Given the description of an element on the screen output the (x, y) to click on. 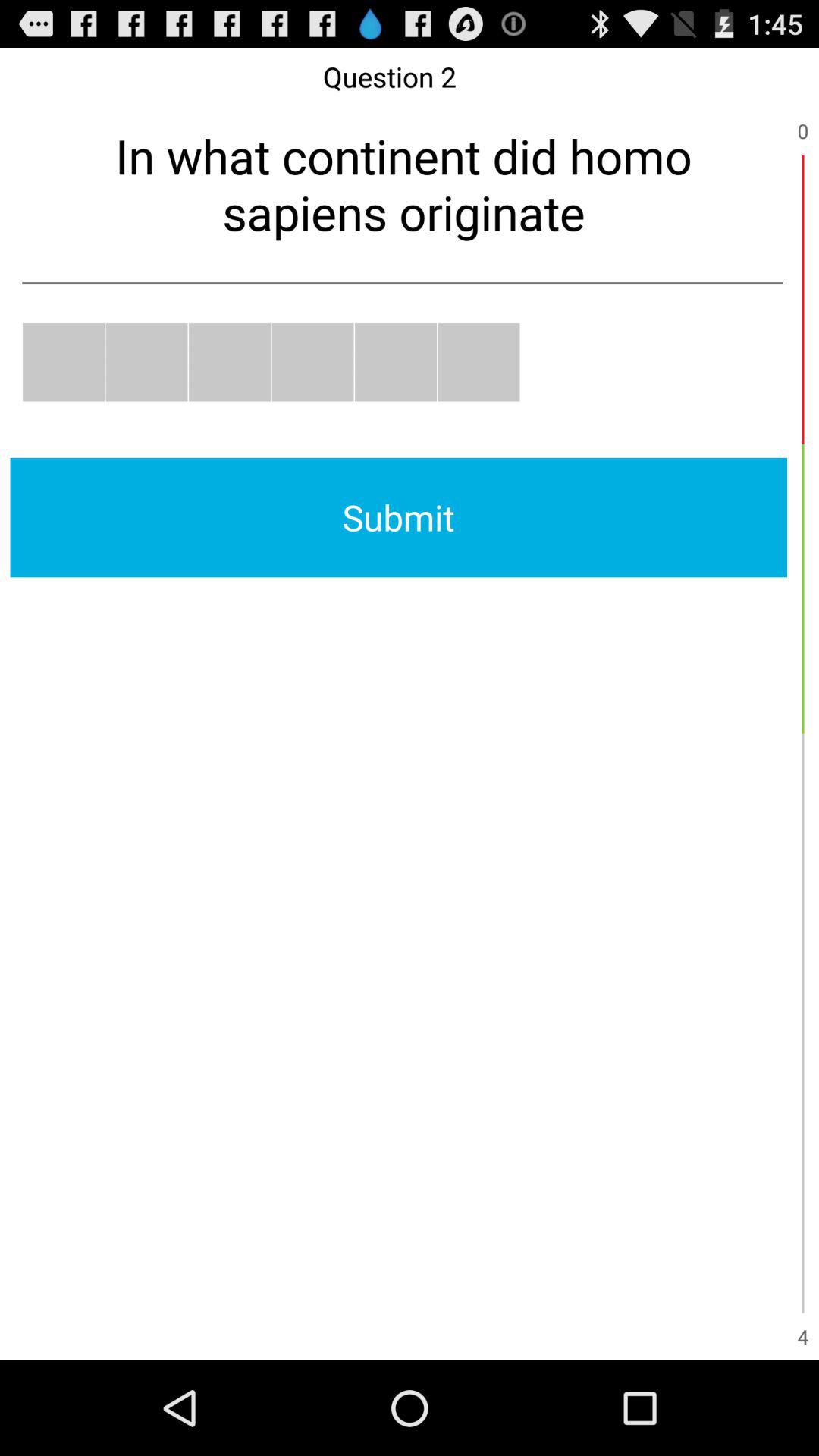
turn on the icon above the submit icon (312, 362)
